Given the description of an element on the screen output the (x, y) to click on. 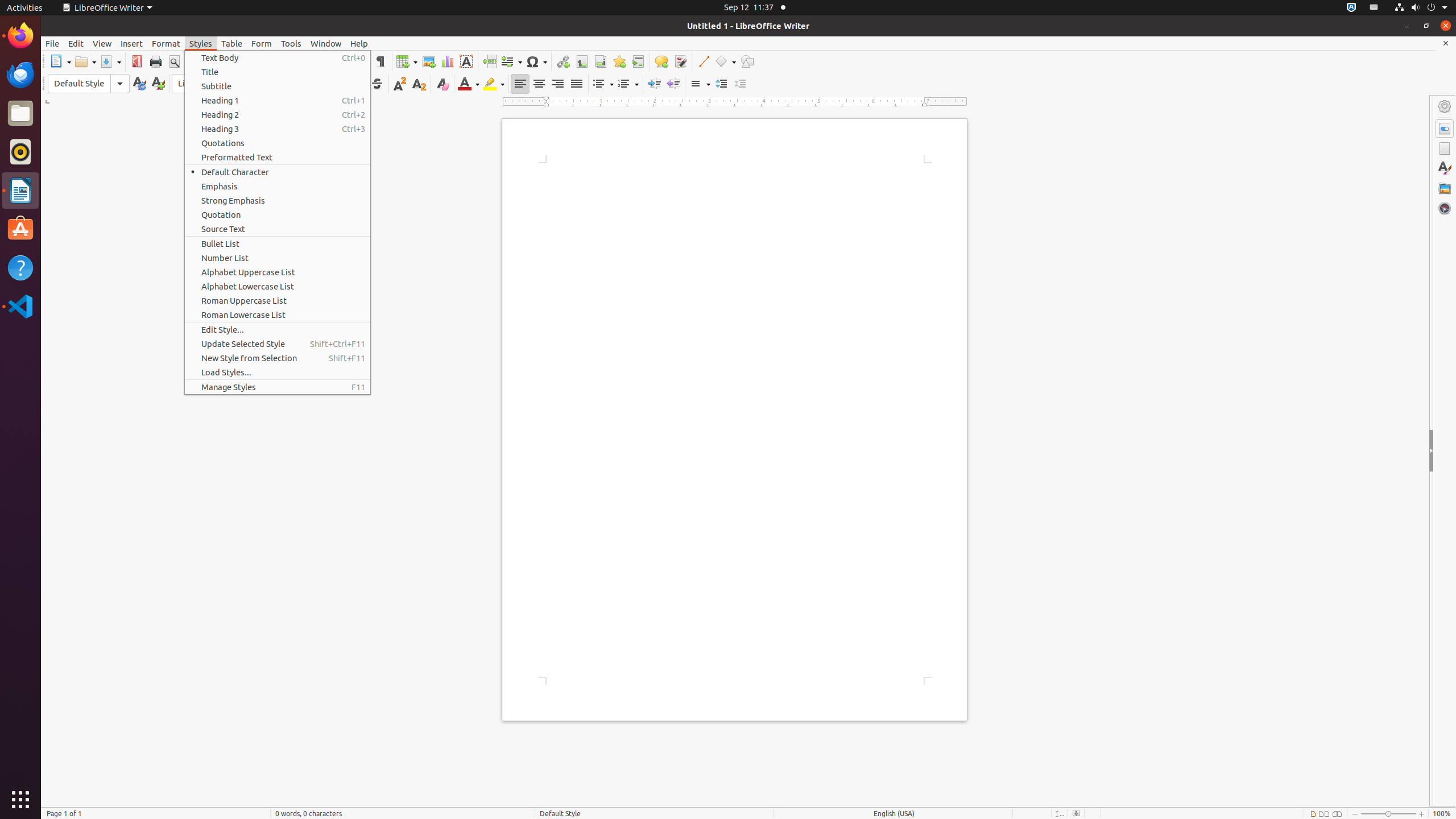
Edit Element type: menu (75, 43)
New Style from Selection Element type: menu-item (277, 357)
Emphasis Element type: radio-menu-item (277, 186)
Styles Element type: menu (200, 43)
Field Element type: push-button (510, 61)
